Given the description of an element on the screen output the (x, y) to click on. 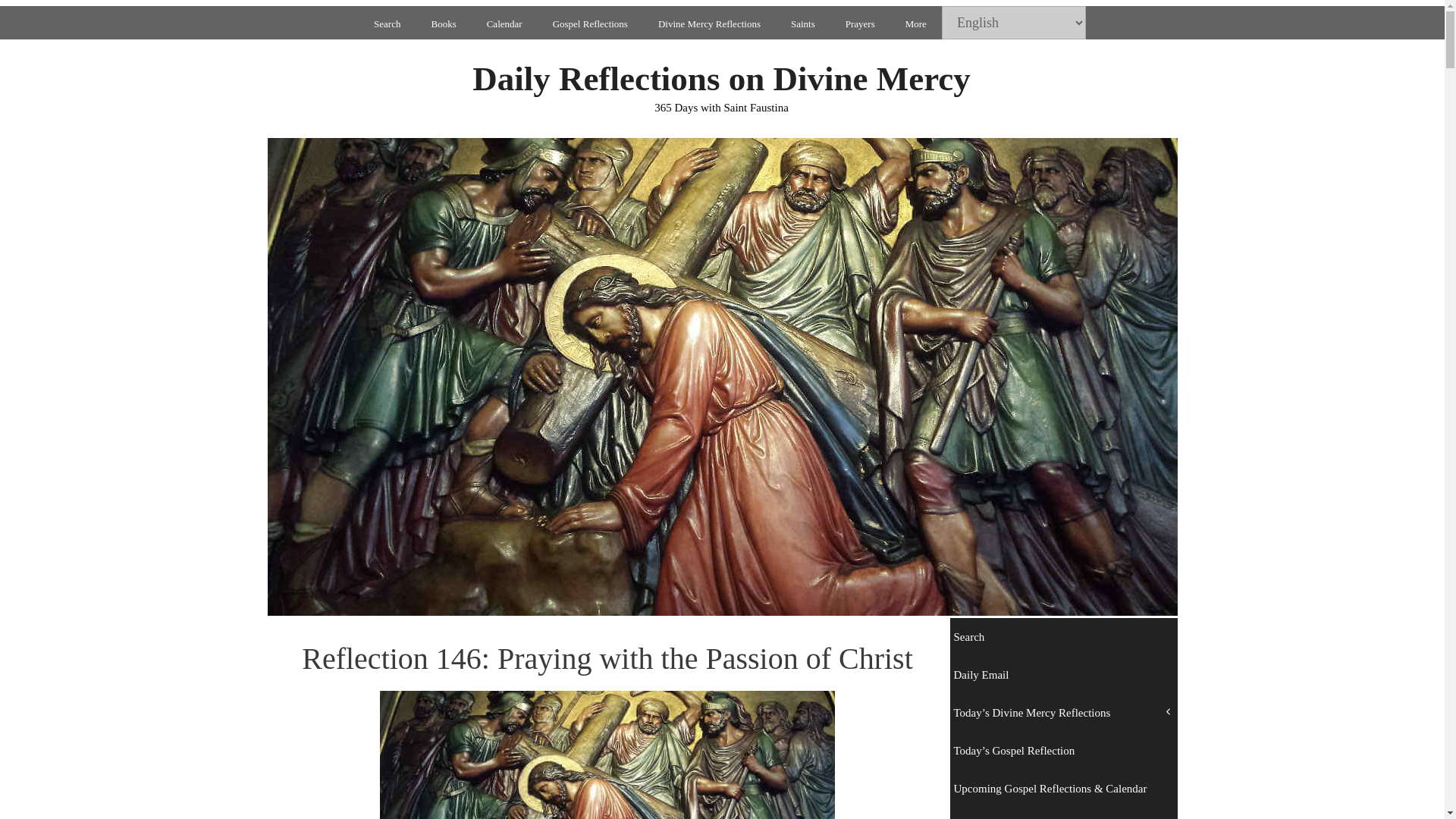
Books (442, 24)
Divine Mercy Reflections (709, 24)
Prayers (859, 24)
Search (386, 24)
Gospel Reflections (590, 24)
Daily Reflections on Divine Mercy (721, 78)
Saints (802, 24)
More (915, 24)
Calendar (504, 24)
